Given the description of an element on the screen output the (x, y) to click on. 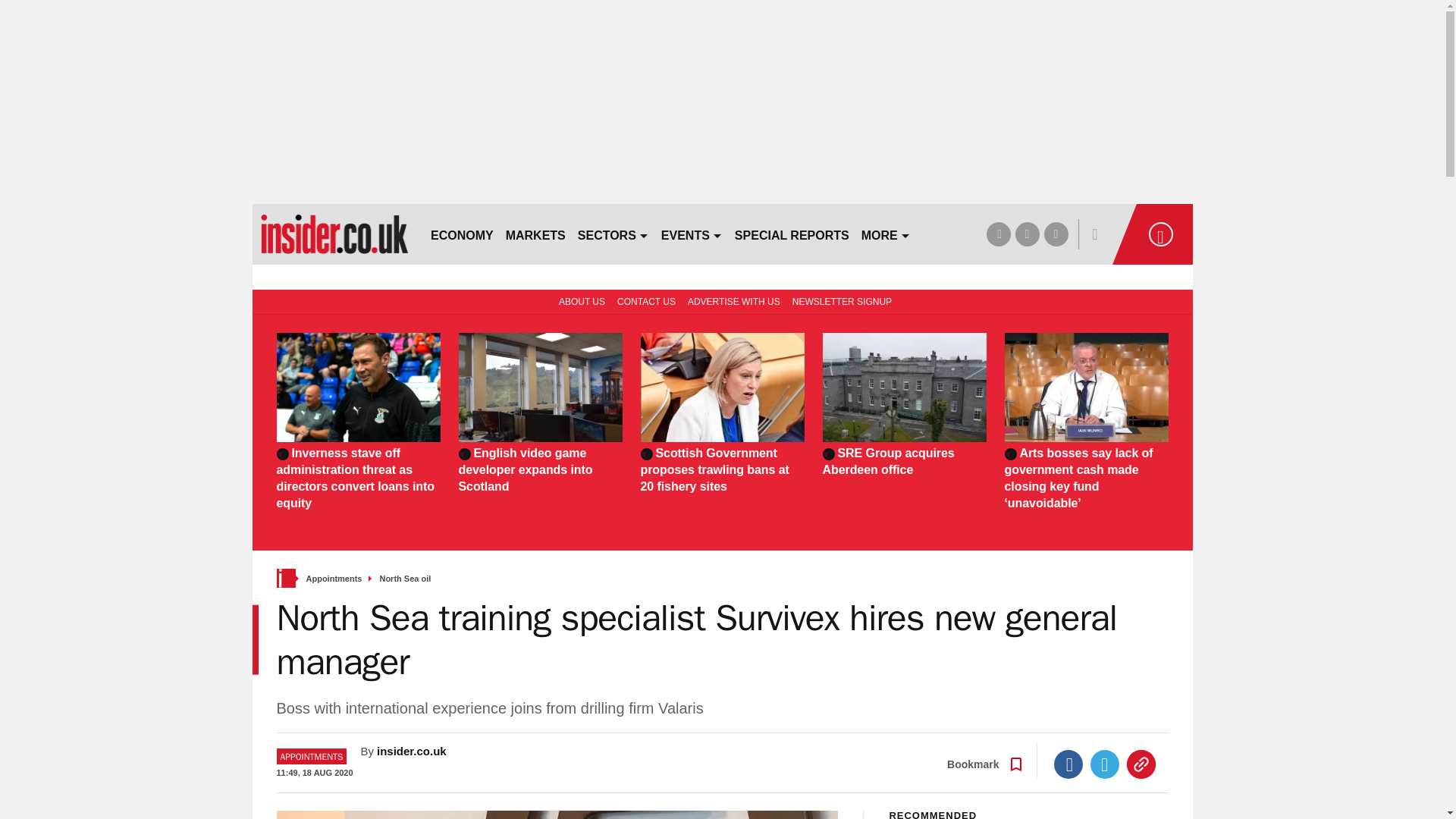
linkedin (1055, 233)
MORE (886, 233)
SECTORS (613, 233)
CONTACT US (646, 300)
businessInsider (333, 233)
facebook (997, 233)
English video game developer expands into Scotland (539, 470)
NEWSLETTER SIGNUP (842, 300)
Twitter (1104, 764)
